Given the description of an element on the screen output the (x, y) to click on. 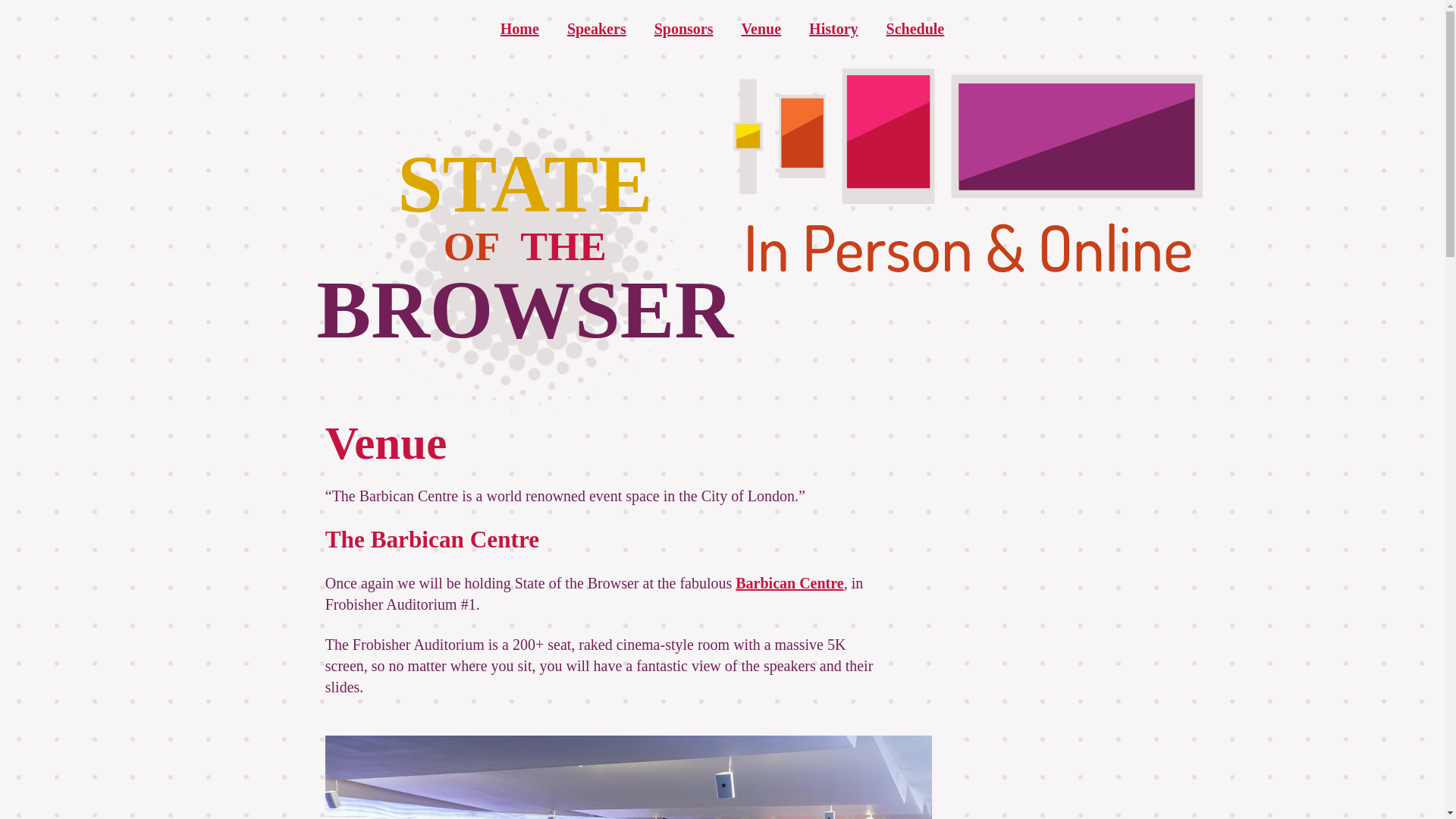
Venue (833, 28)
Barbican Centre (760, 28)
Sponsors (789, 582)
Home (683, 28)
Schedule (519, 28)
Skip to main content (915, 28)
